Given the description of an element on the screen output the (x, y) to click on. 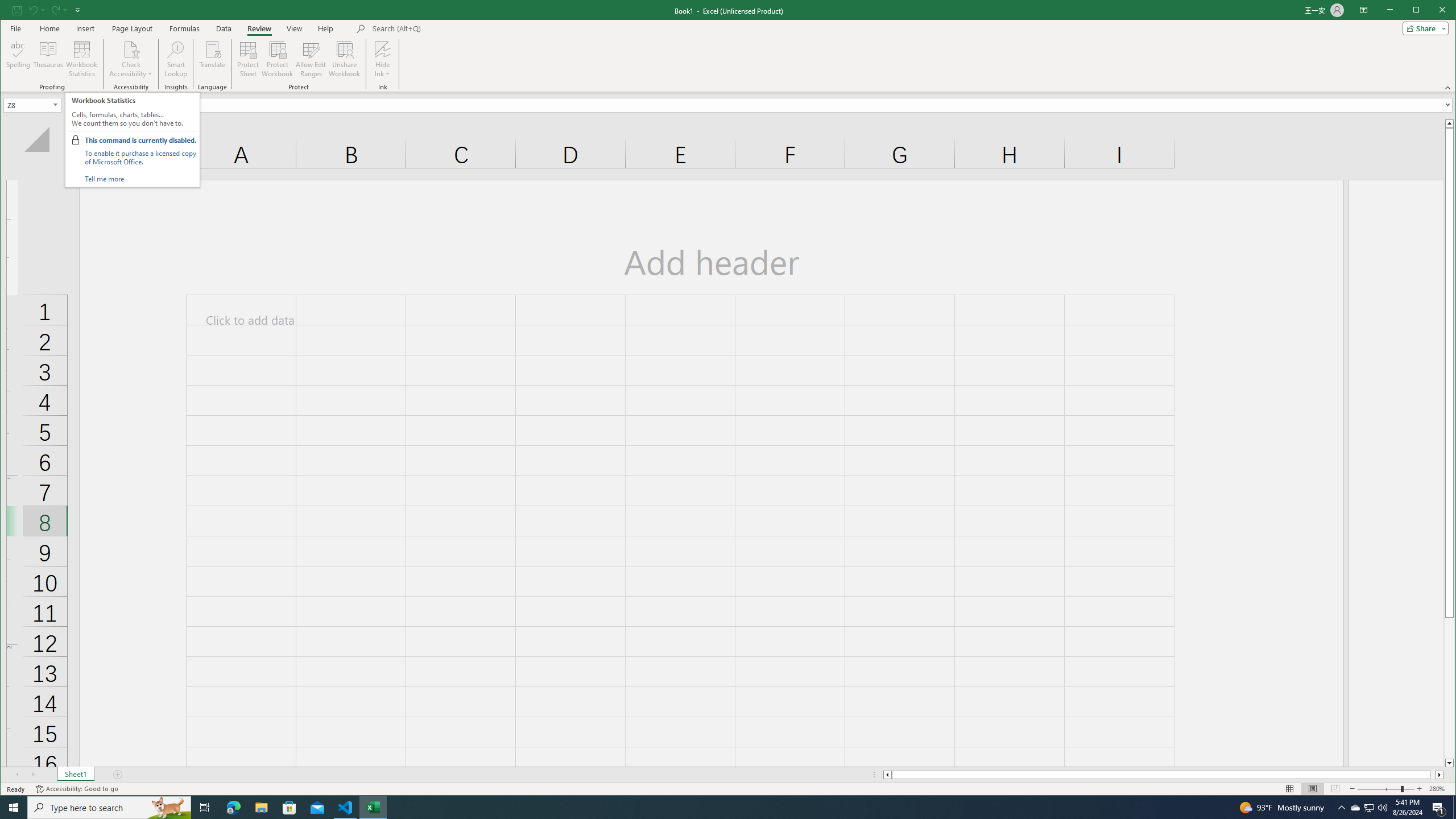
Allow Edit Ranges (310, 59)
Start (13, 807)
Accessibility Checker Accessibility: Good to go (76, 788)
This command is currently disabled. (140, 139)
Column right (1439, 774)
Class: MsoCommandBar (728, 45)
Hide Ink (382, 59)
Translate (212, 59)
File Tab (15, 27)
Excel - 1 running window (373, 807)
Review (259, 28)
Add Sheet (118, 774)
Line up (1449, 122)
